Given the description of an element on the screen output the (x, y) to click on. 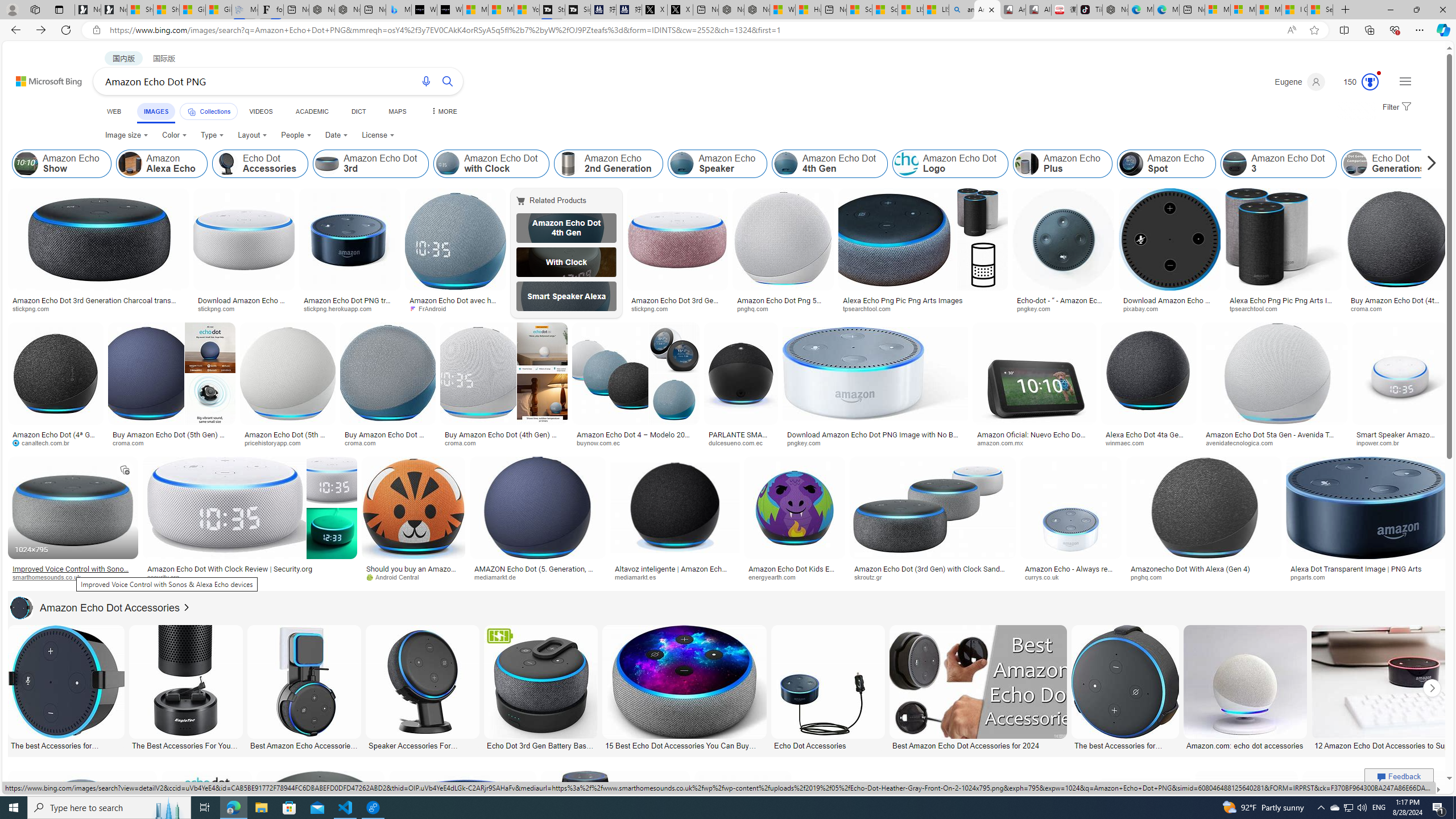
Alexa Dot Transparent Image | PNG Arts (1366, 568)
Amazon Echo Dot Kids Edition - 5th Generation (794, 572)
ACADEMIC (311, 111)
smarthomesounds.co.uk (73, 576)
Type (212, 135)
MORE (443, 111)
